Given the description of an element on the screen output the (x, y) to click on. 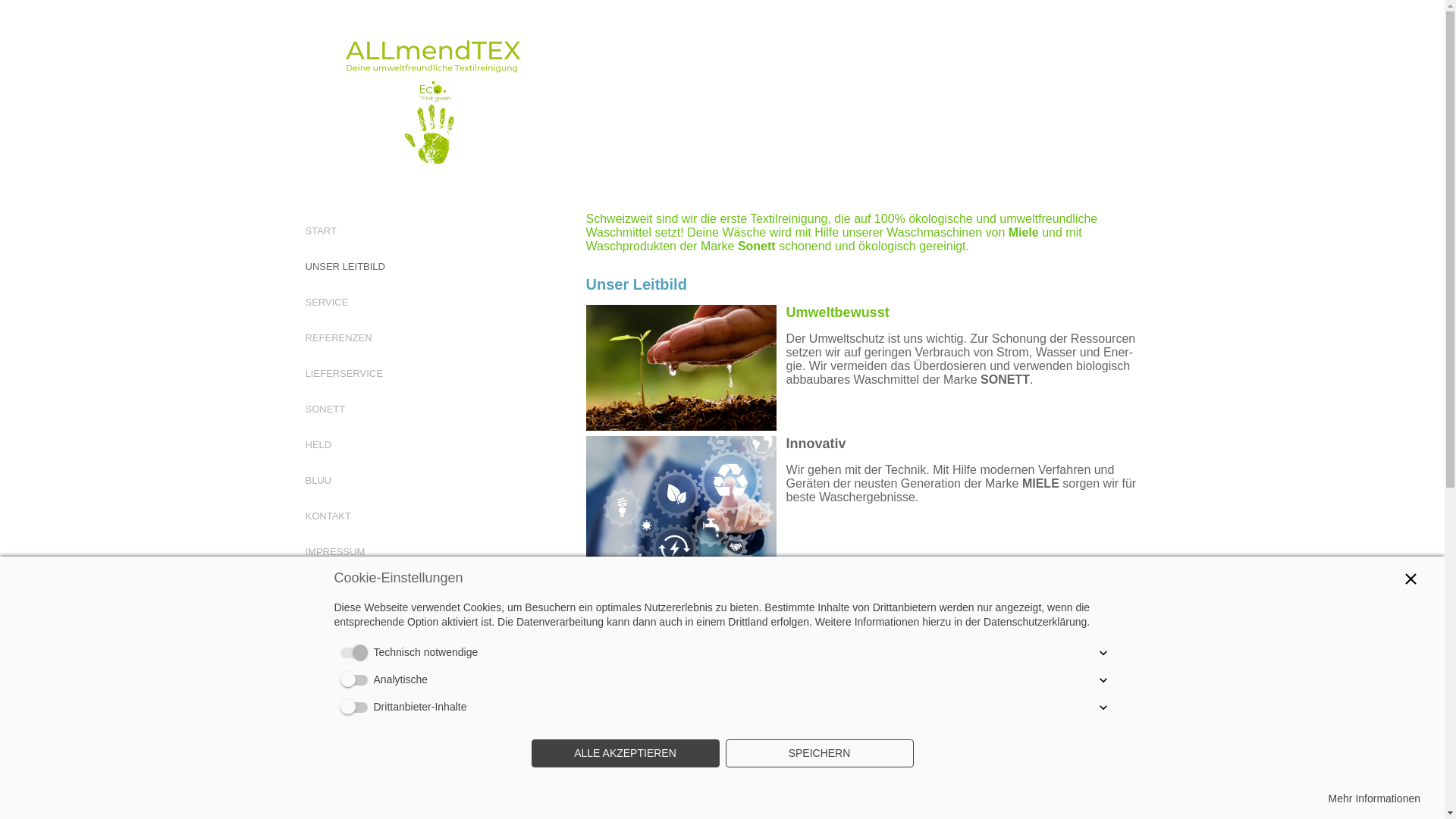
UNSER LEITBILD Element type: text (344, 266)
IMPRESSUM Element type: text (334, 551)
KONTAKT Element type: text (327, 515)
BLUU Element type: text (317, 480)
HELD Element type: text (317, 444)
Sonett Element type: text (756, 245)
LIEFERSERVICE Element type: text (343, 373)
REFERENZEN Element type: text (337, 337)
SERVICE Element type: text (326, 301)
Mehr Informationen Element type: text (1374, 798)
ALLE AKZEPTIEREN Element type: text (624, 753)
SONETT Element type: text (324, 408)
AGB`S Element type: text (319, 587)
START Element type: text (319, 230)
DATENSCHUTZ Element type: text (340, 622)
Miele Element type: text (1023, 231)
SPEICHERN Element type: text (818, 753)
